Given the description of an element on the screen output the (x, y) to click on. 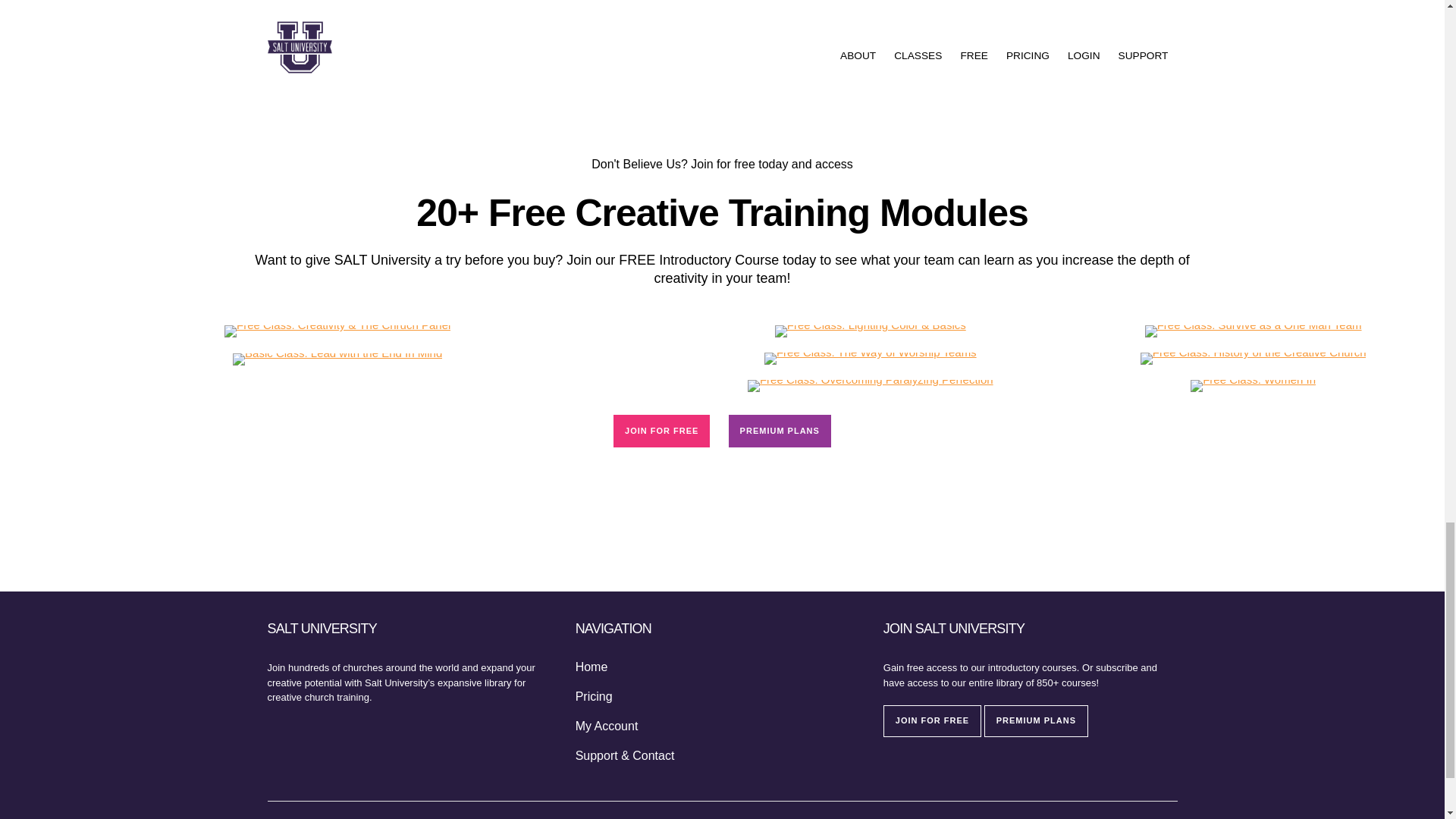
My Account (607, 726)
Home (591, 667)
JOIN FOR FREE (661, 430)
Pricing (593, 697)
PREMIUM PLANS (780, 430)
JOIN FOR FREE (932, 721)
PREMIUM PLANS (1035, 721)
